Given the description of an element on the screen output the (x, y) to click on. 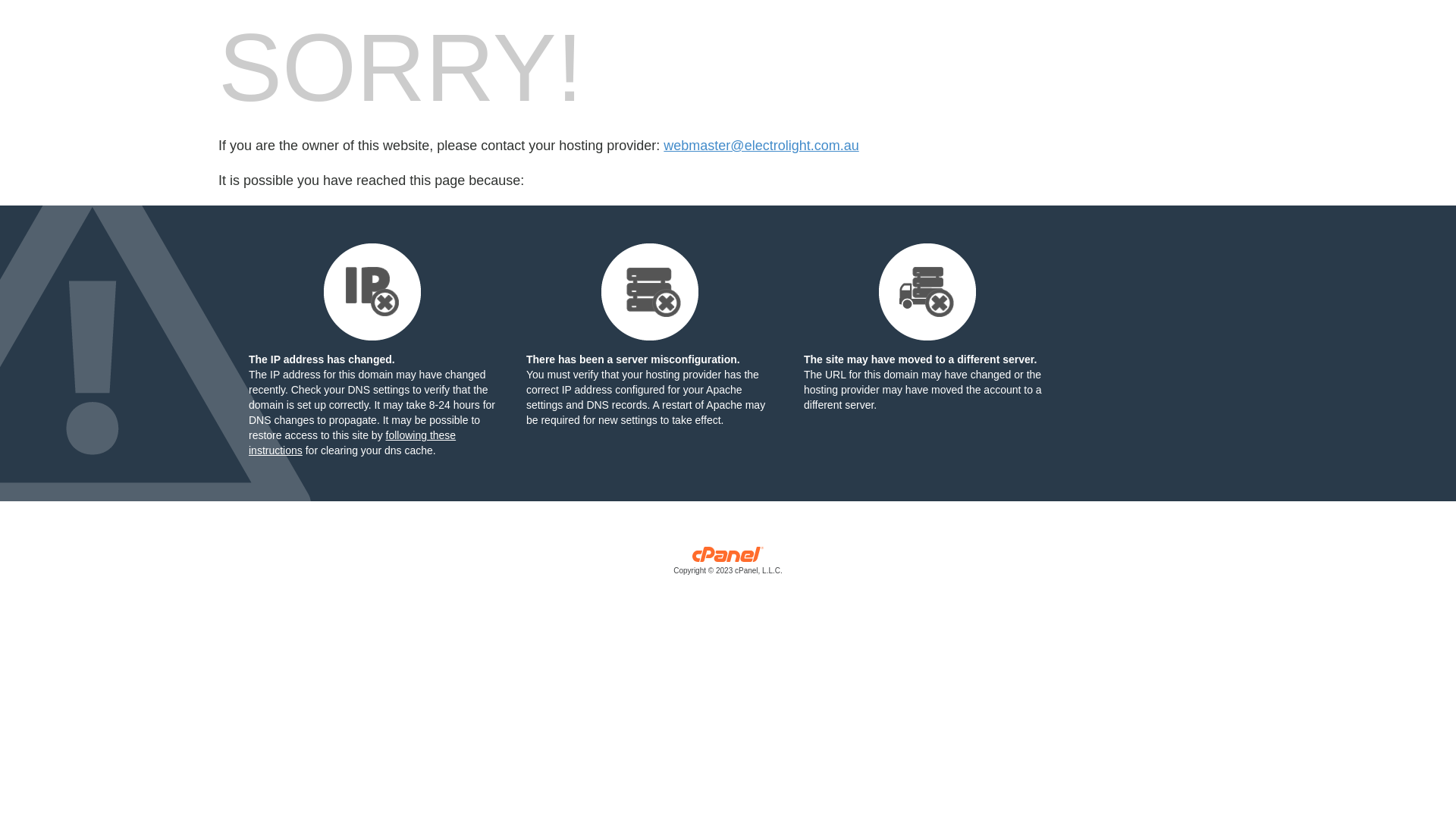
webmaster@electrolight.com.au Element type: text (760, 145)
following these instructions Element type: text (351, 442)
